Given the description of an element on the screen output the (x, y) to click on. 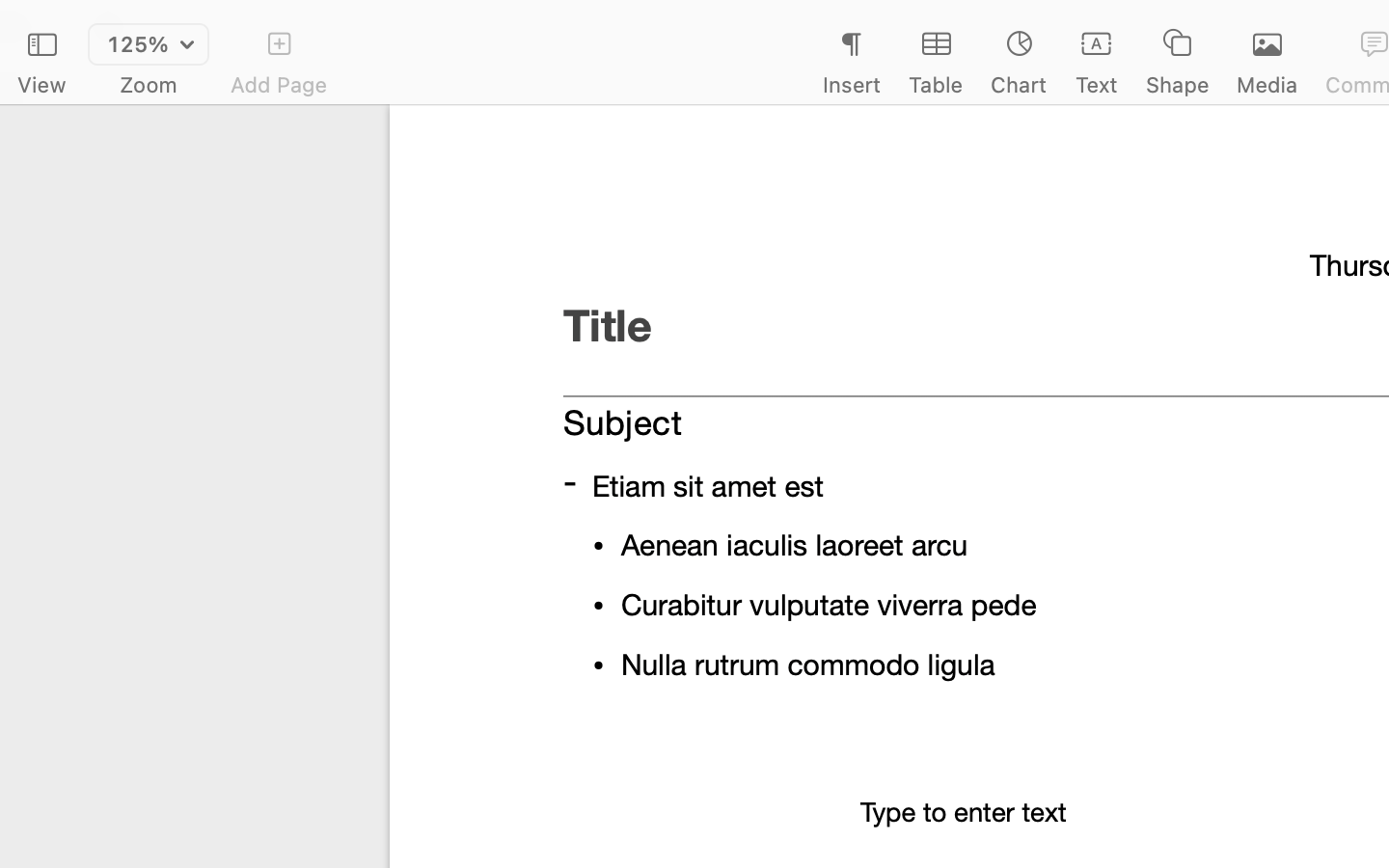
Learn More Element type: AXStaticText (1126, 618)
Untitled Element type: AXStaticText (1334, 24)
